Given the description of an element on the screen output the (x, y) to click on. 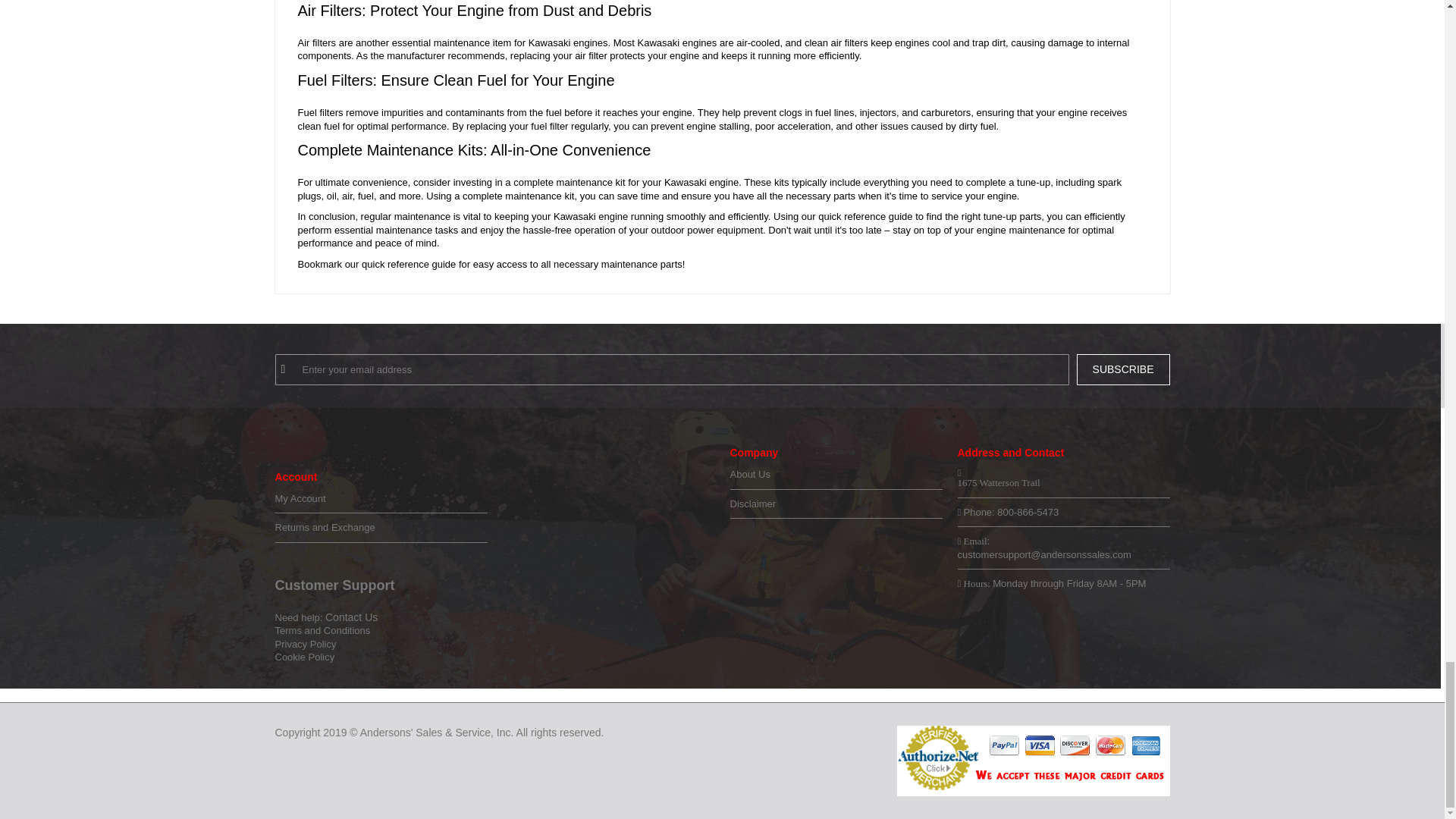
Returns and Exchange (380, 527)
Privacy Policy (305, 644)
Disclaimer (835, 504)
About Us (835, 474)
Cookie Policy (304, 656)
Terms and Conditions (322, 630)
Subscribe (1123, 368)
My Account (380, 499)
